Given the description of an element on the screen output the (x, y) to click on. 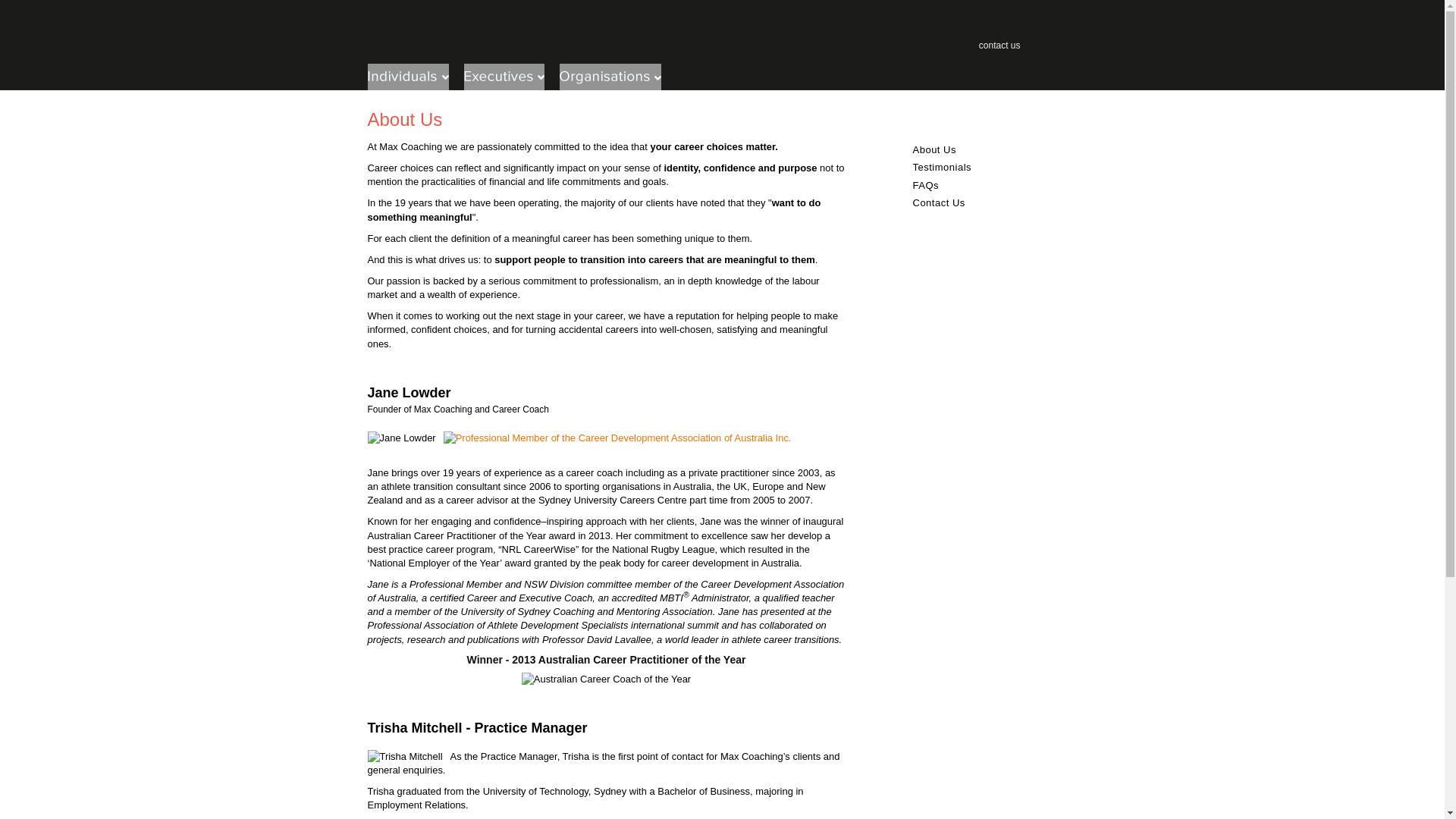
Max Coaching Element type: hover (507, 36)
FAQs Element type: text (926, 185)
contact us Element type: text (999, 45)
About Us Element type: text (934, 149)
Testimonials Element type: text (942, 166)
Contact Us Element type: text (939, 202)
